Given the description of an element on the screen output the (x, y) to click on. 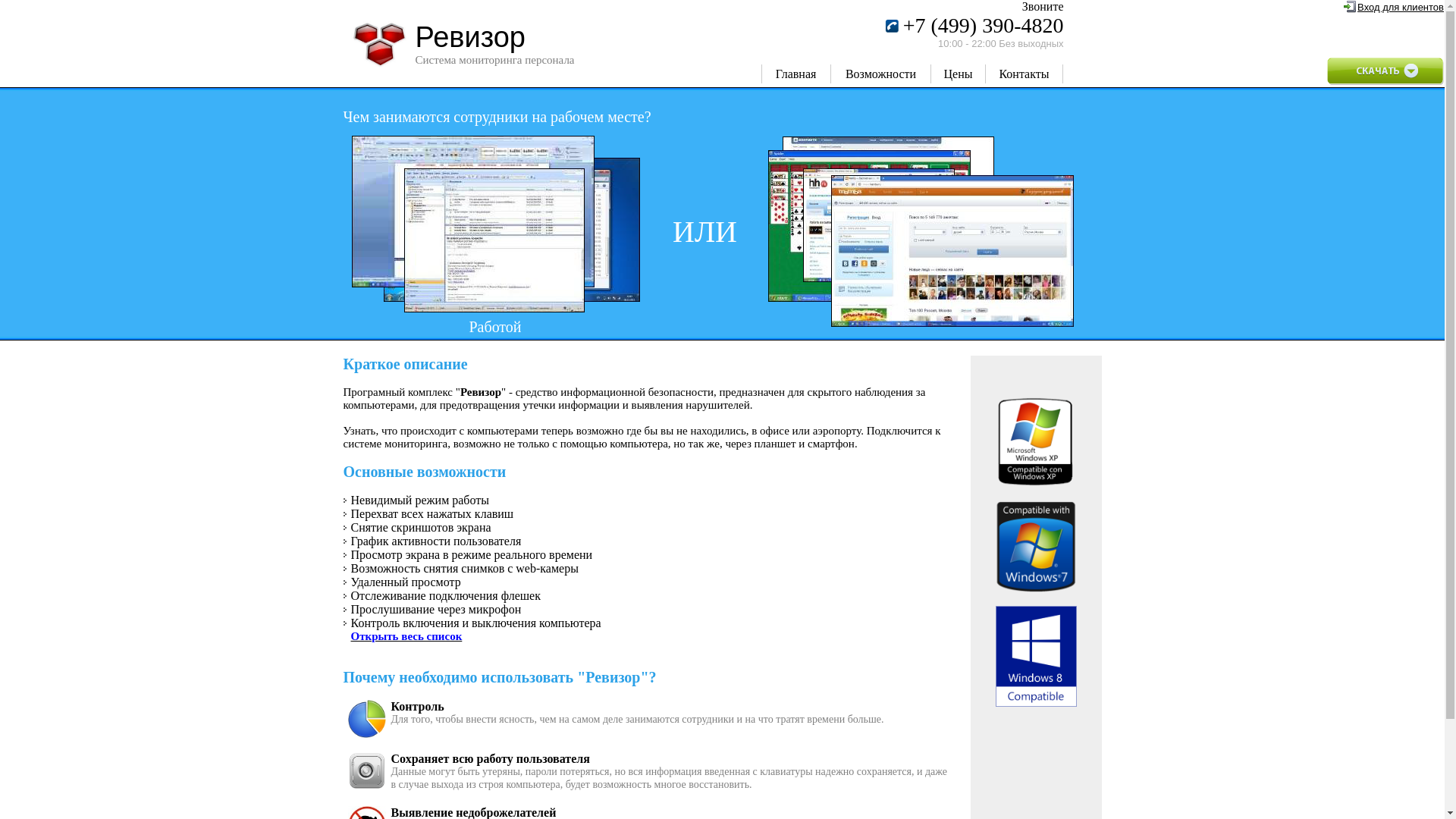
+7 (499) 390-4820 Element type: text (983, 27)
